Given the description of an element on the screen output the (x, y) to click on. 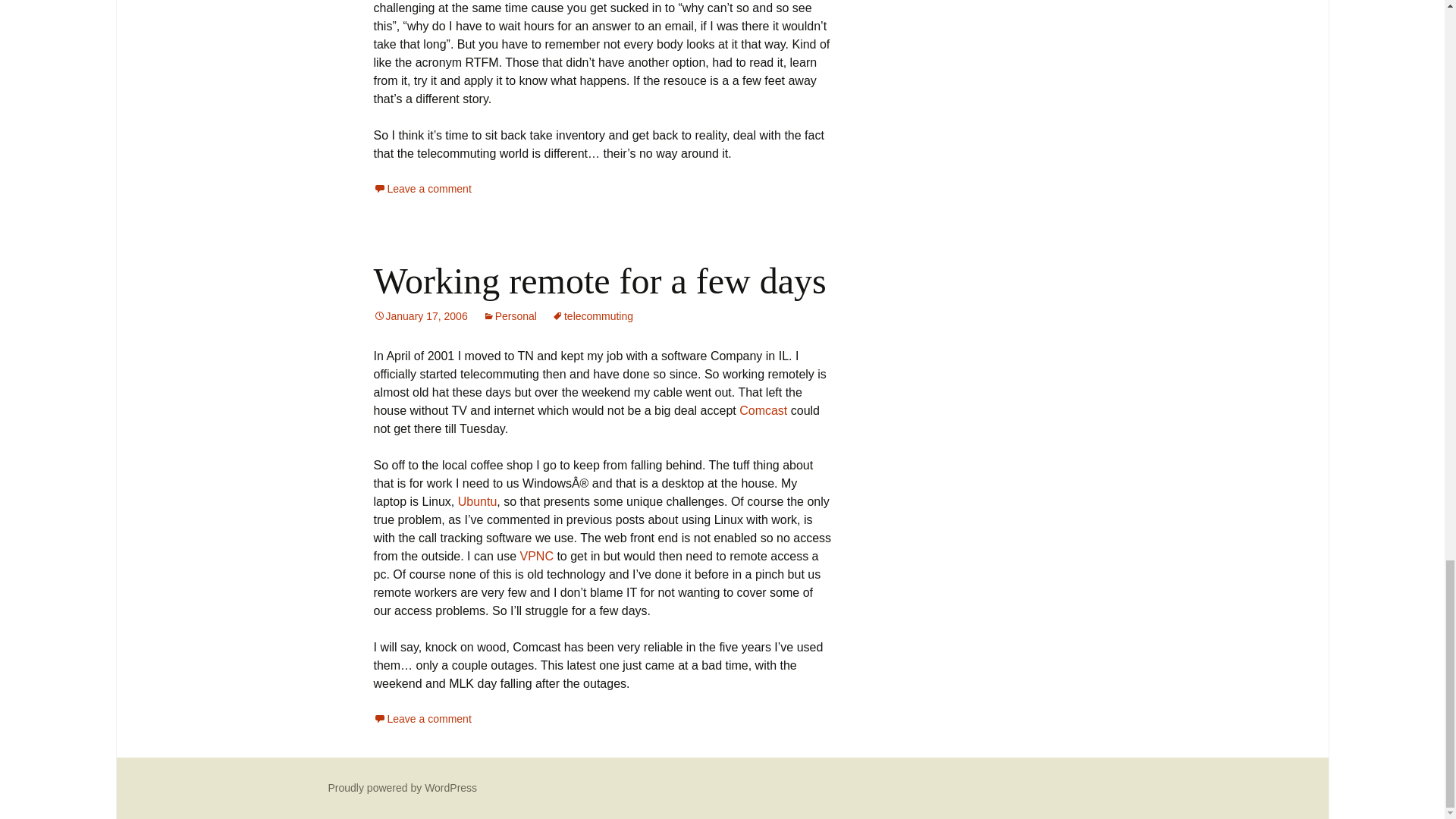
VPNC (536, 555)
January 17, 2006 (419, 316)
Leave a comment (421, 188)
Proudly powered by WordPress (402, 787)
Leave a comment (421, 718)
telecommuting (592, 316)
Working remote for a few days (598, 281)
Permalink to Working remote for a few days (419, 316)
Ubuntu (477, 501)
Comcast (763, 410)
